Given the description of an element on the screen output the (x, y) to click on. 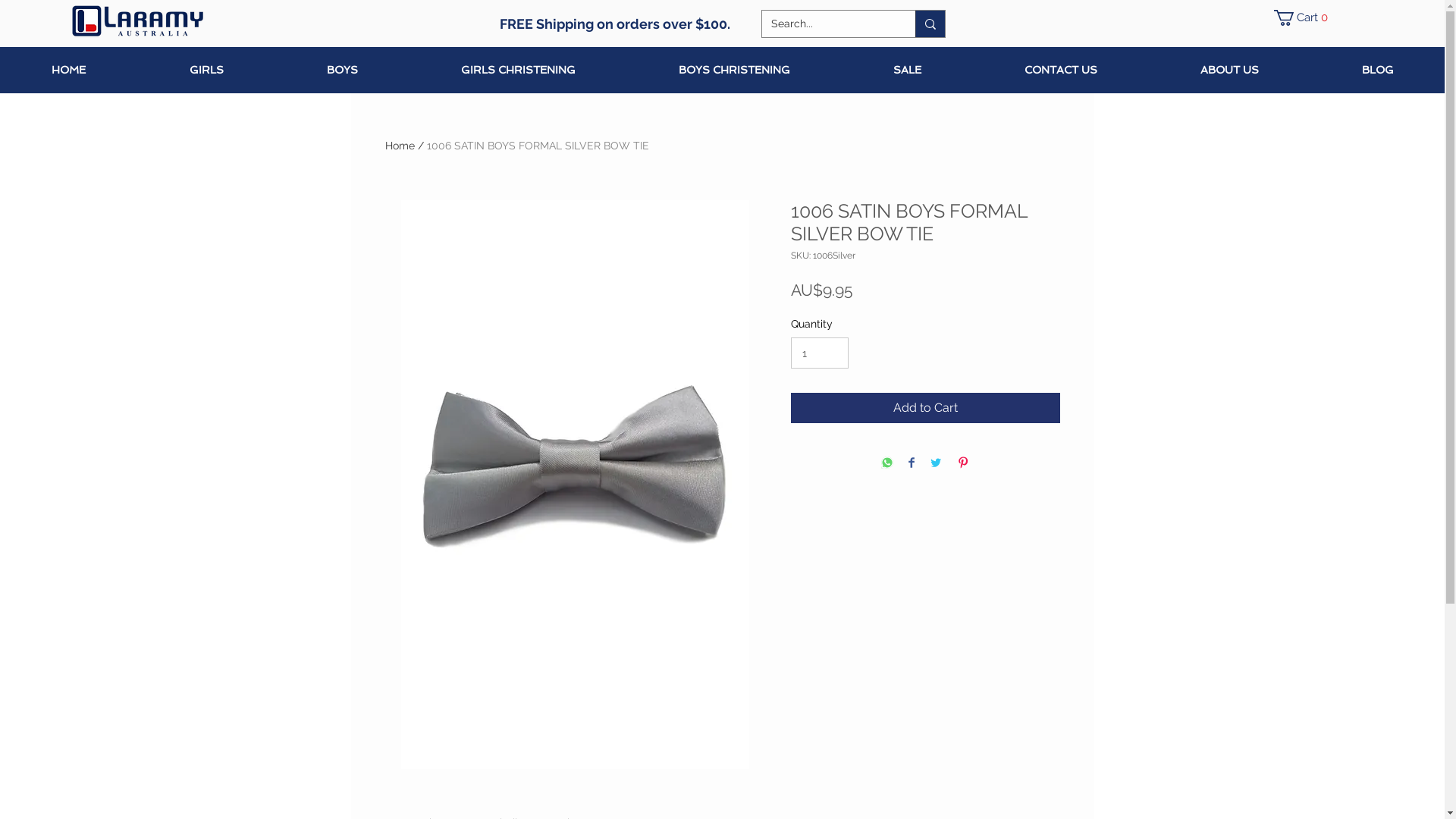
BLOG Element type: text (1376, 69)
ABOUT US Element type: text (1228, 69)
CONTACT US Element type: text (1060, 69)
GIRLS CHRISTENING Element type: text (517, 69)
BOYS CHRISTENING Element type: text (733, 69)
Cart
0 Element type: text (1303, 17)
GIRLS Element type: text (205, 69)
HOME Element type: text (68, 69)
Add to Cart Element type: text (924, 407)
SALE Element type: text (906, 69)
Home Element type: text (399, 145)
1006 SATIN BOYS FORMAL SILVER BOW TIE Element type: text (537, 145)
BOYS Element type: text (341, 69)
